Given the description of an element on the screen output the (x, y) to click on. 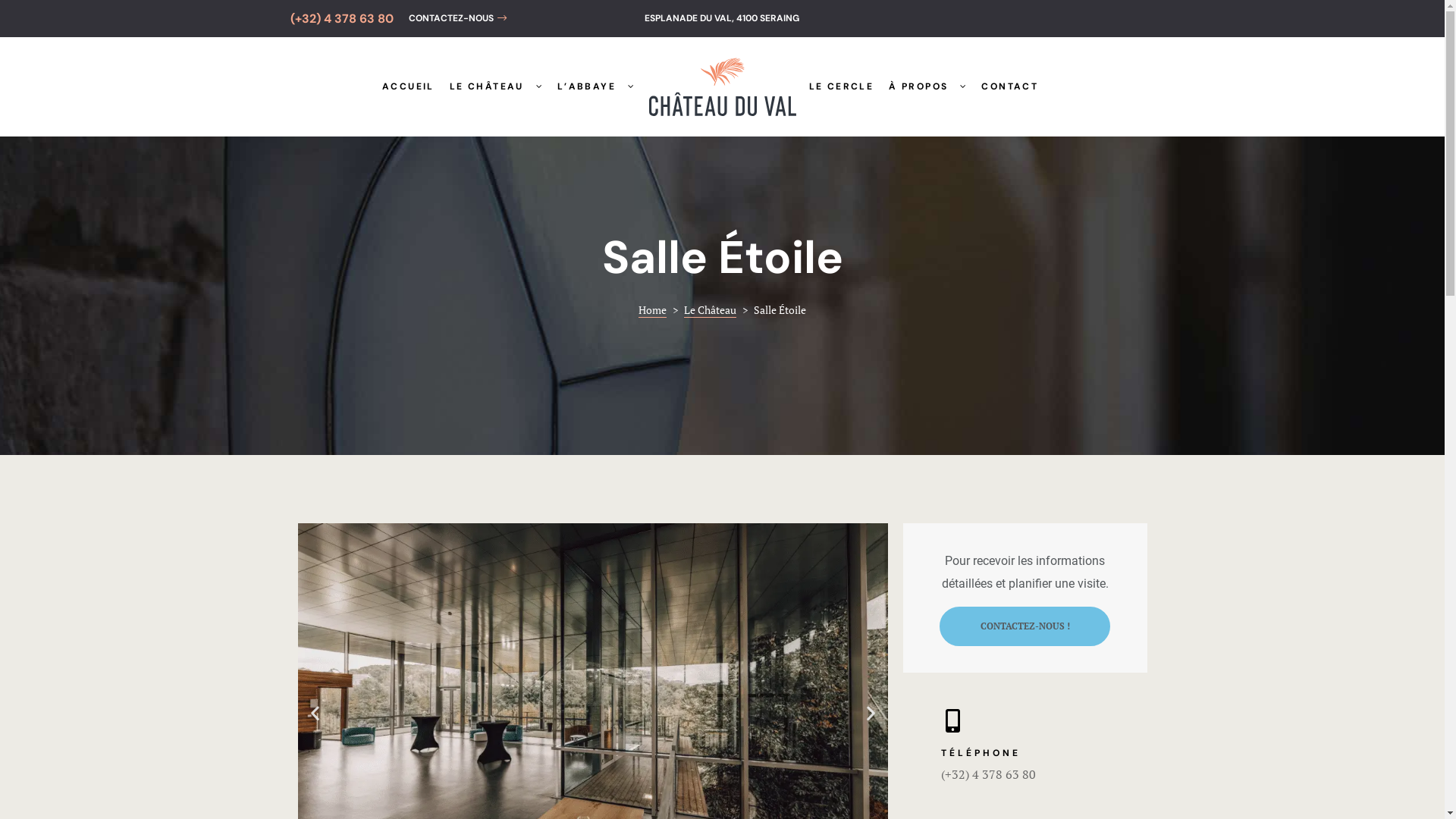
CONTACTEZ-NOUS ! Element type: text (1024, 626)
LE CERCLE Element type: text (840, 86)
Home Element type: text (652, 309)
CONTACTEZ-NOUS Element type: text (456, 18)
ESPLANADE DU VAL, 4100 SERAING Element type: text (721, 18)
CONTACT Element type: text (1009, 86)
ACCUEIL Element type: text (408, 86)
